Given the description of an element on the screen output the (x, y) to click on. 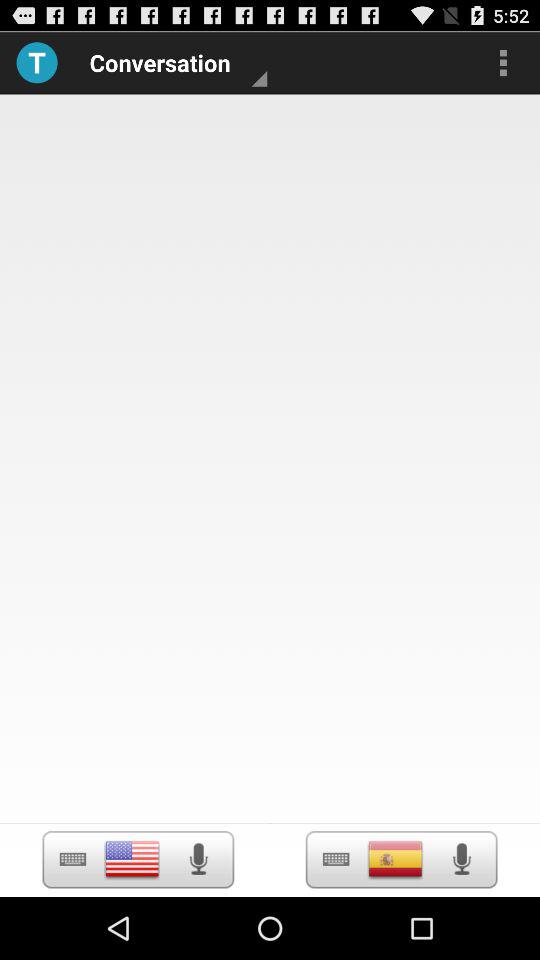
to display keyboard (72, 859)
